Given the description of an element on the screen output the (x, y) to click on. 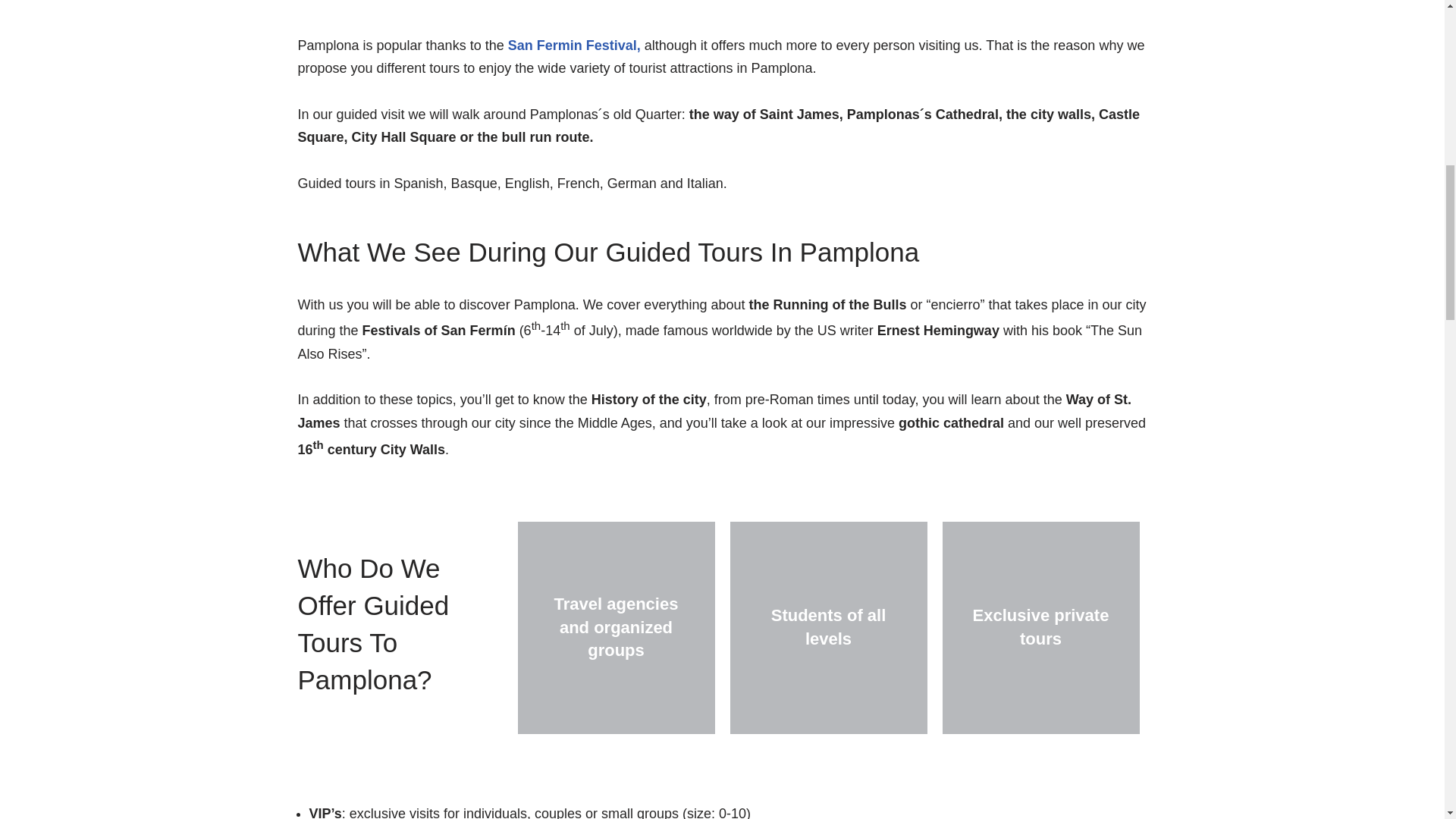
San Fermin Festival, (574, 45)
